Given the description of an element on the screen output the (x, y) to click on. 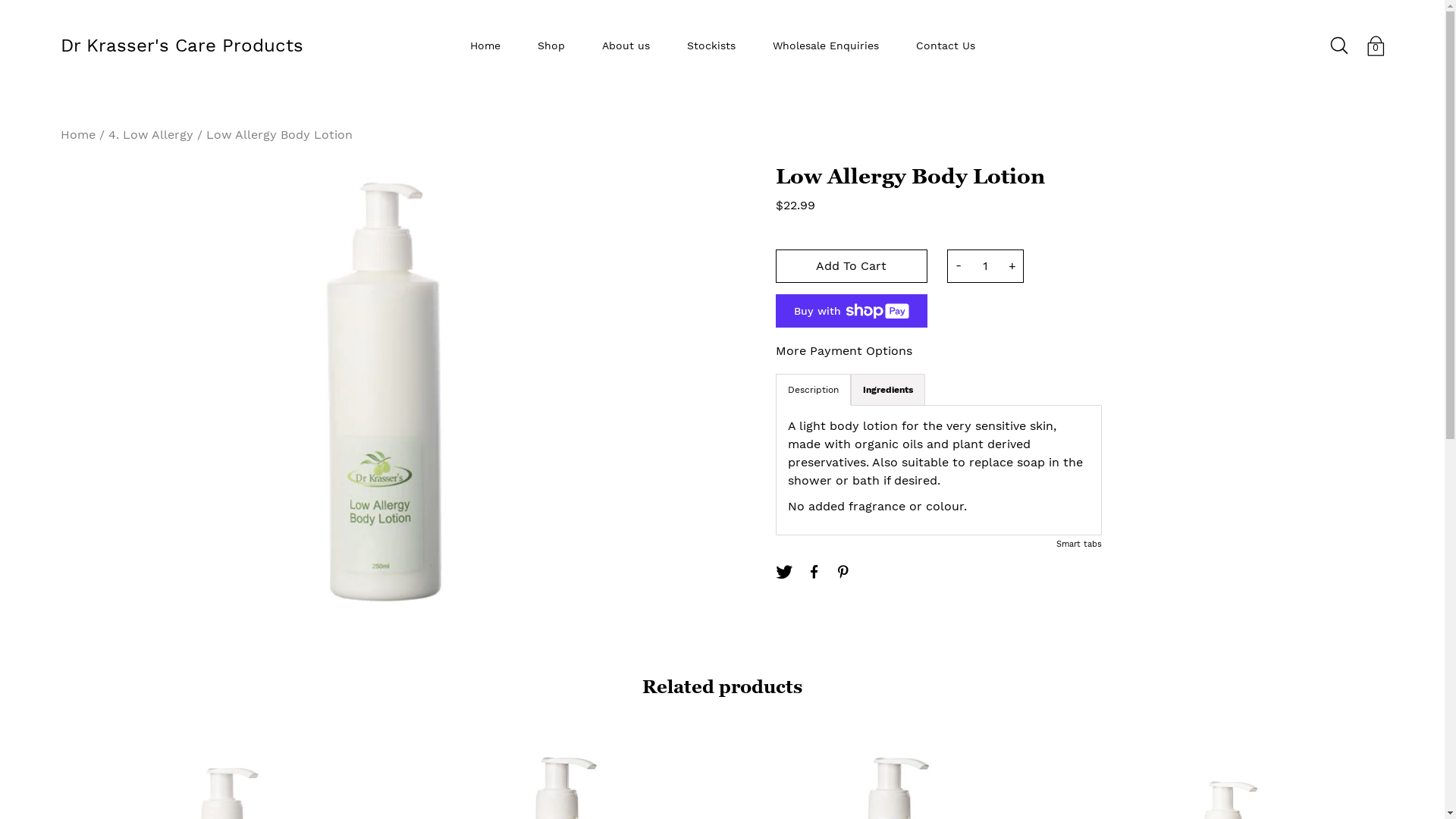
Home Element type: text (77, 134)
0 Element type: text (1375, 45)
4. Low Allergy Element type: text (150, 134)
About us Element type: text (625, 45)
Contact Us Element type: text (945, 45)
Stockists Element type: text (711, 45)
Smart tabs Element type: text (1078, 544)
More Payment Options Element type: text (843, 350)
Home Element type: text (485, 45)
Shop Element type: text (550, 45)
Add To Cart Element type: text (850, 265)
Dr Krasser's Care Products Element type: text (181, 45)
Wholesale Enquiries Element type: text (824, 45)
